Given the description of an element on the screen output the (x, y) to click on. 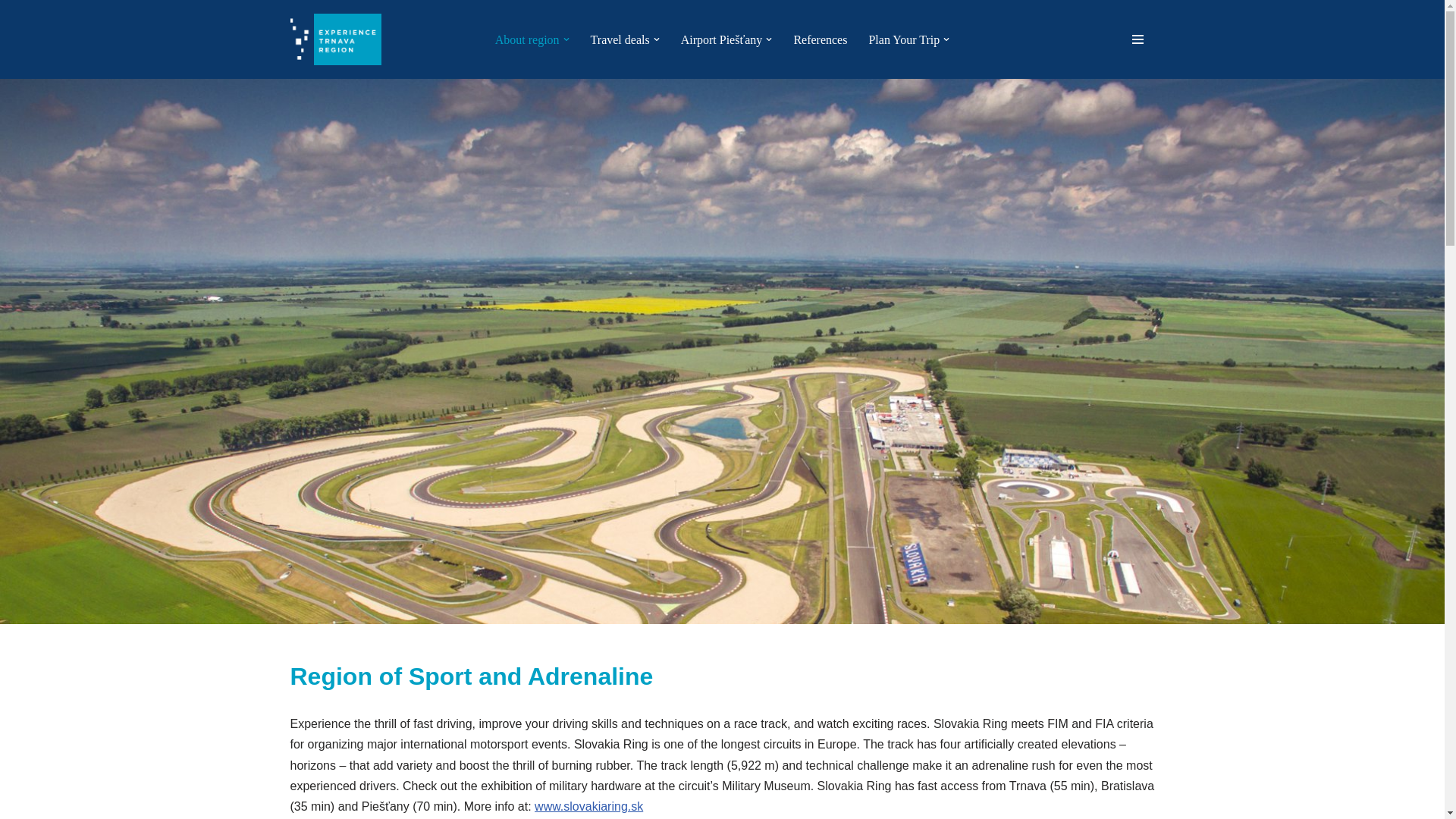
Travel deals (620, 39)
About region (527, 39)
References (820, 39)
Plan Your Trip (903, 39)
